Given the description of an element on the screen output the (x, y) to click on. 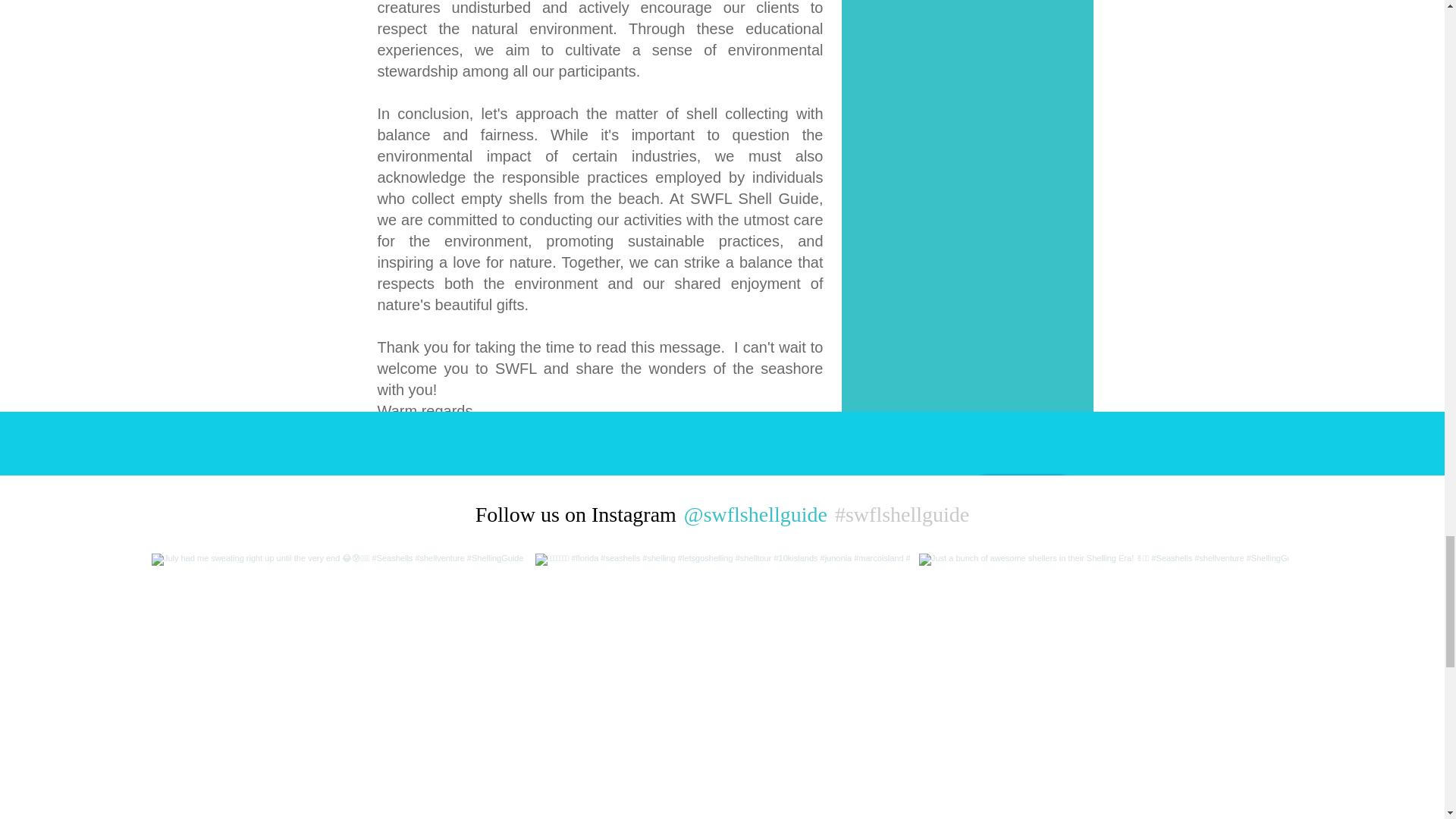
Email Me! (1023, 490)
www.swflshellguide.com (584, 491)
pro-gallery-video (722, 686)
Log In (406, 490)
